Given the description of an element on the screen output the (x, y) to click on. 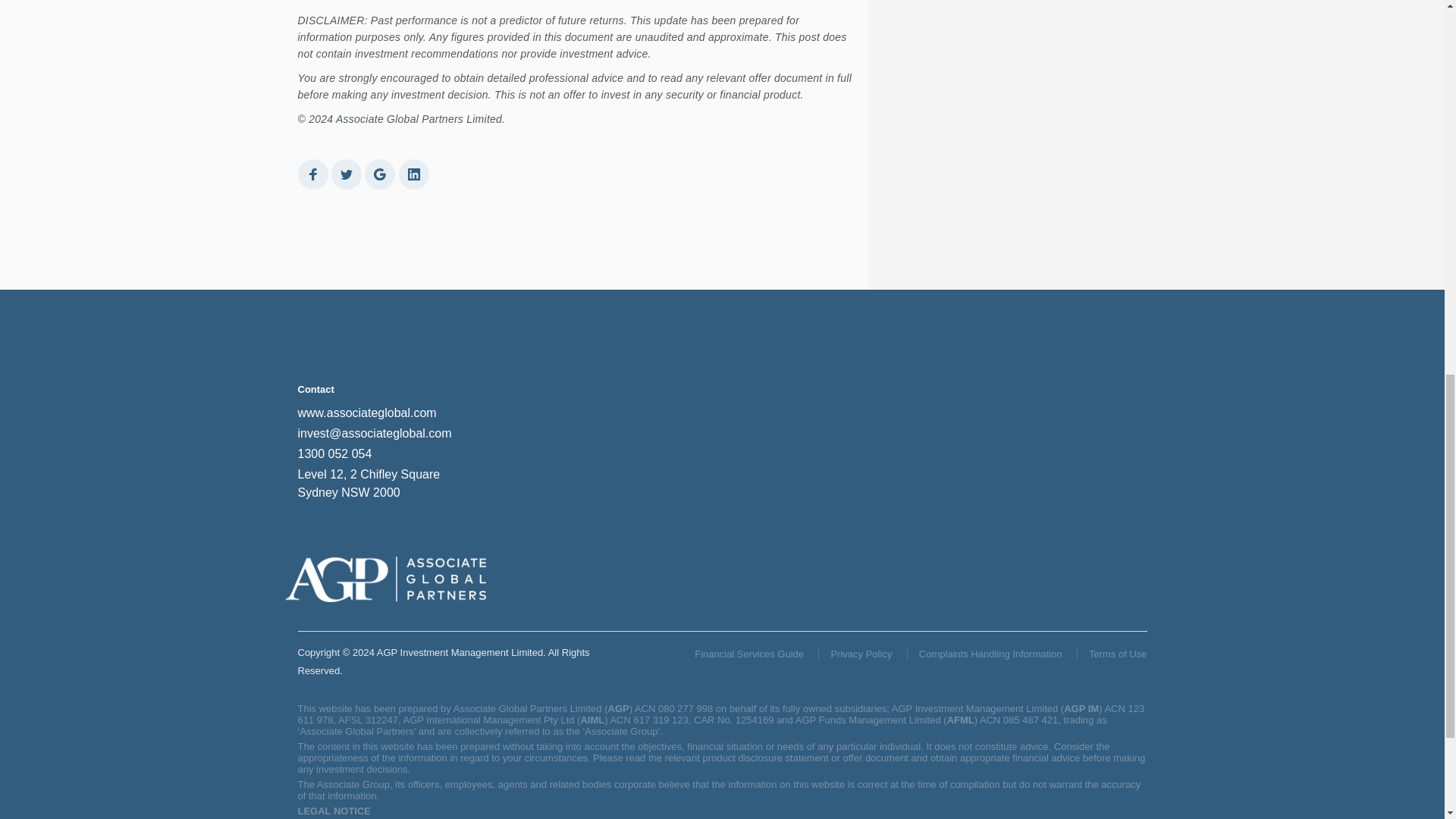
www.associateglobal.com (366, 412)
1300 052 054 (334, 453)
